Given the description of an element on the screen output the (x, y) to click on. 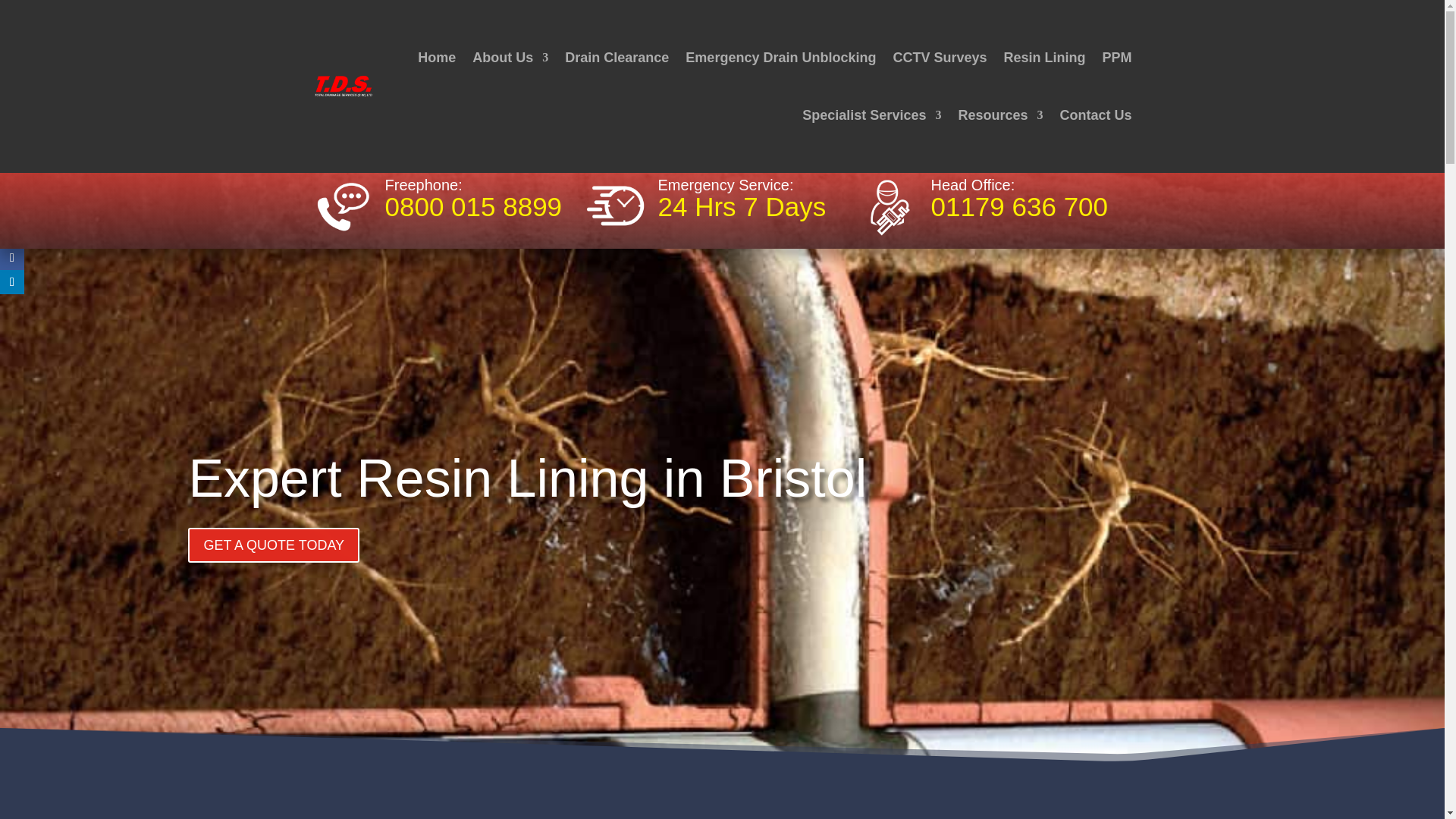
Emergency Drain Unblocking (780, 57)
Drain Clearance (616, 57)
0800 015 8899 (473, 206)
CCTV Surveys (939, 57)
About Us (509, 57)
Contact Us (1095, 115)
Specialist Services (871, 115)
Follow on Facebook (12, 257)
01179 636 700 (1019, 206)
Resources (1000, 115)
Resin Lining (1043, 57)
Follow on LinkedIn (12, 282)
